Given the description of an element on the screen output the (x, y) to click on. 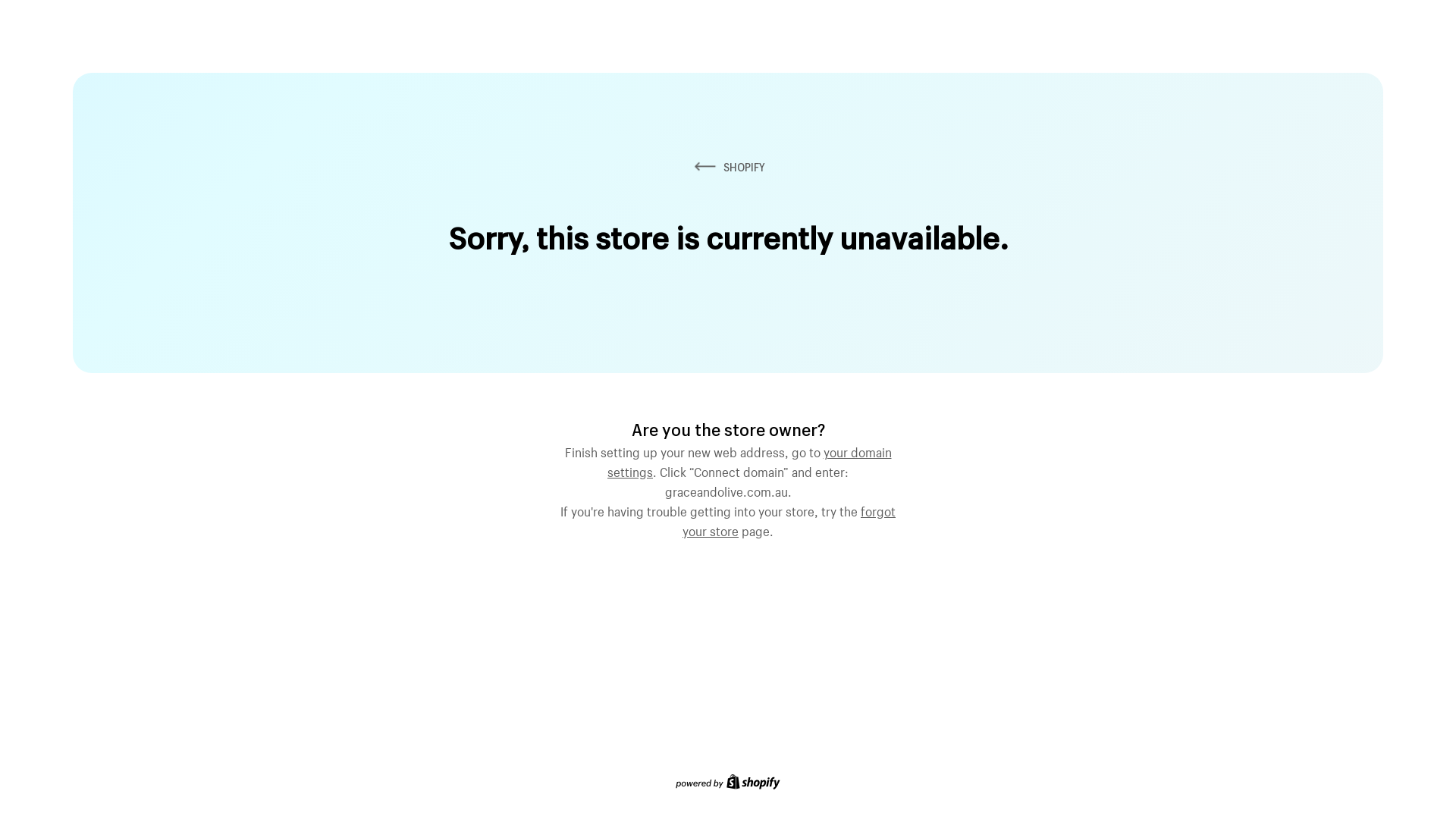
forgot your store Element type: text (788, 519)
SHOPIFY Element type: text (727, 167)
your domain settings Element type: text (749, 460)
